Given the description of an element on the screen output the (x, y) to click on. 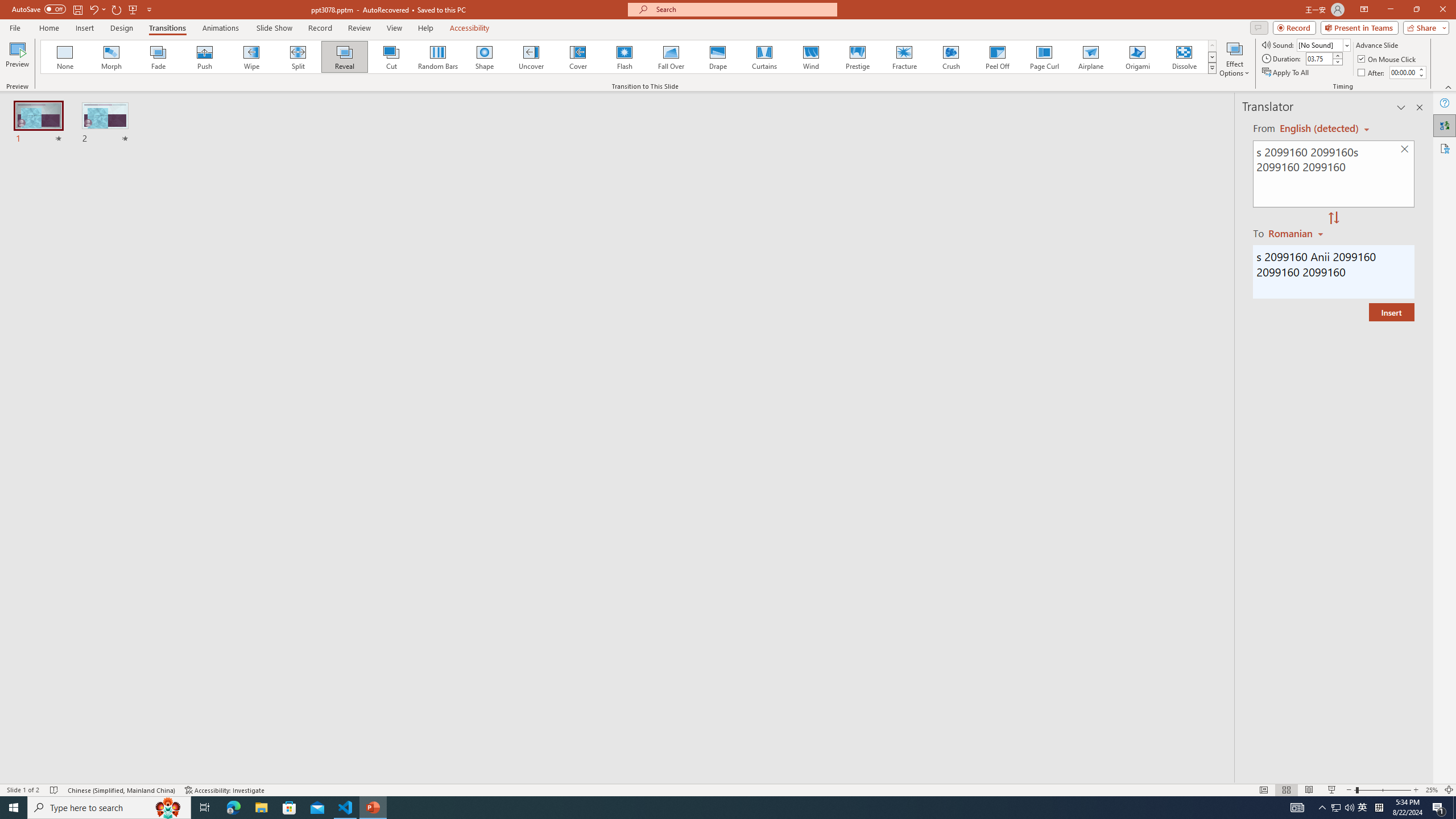
Prestige (857, 56)
Duration (1319, 58)
